Given the description of an element on the screen output the (x, y) to click on. 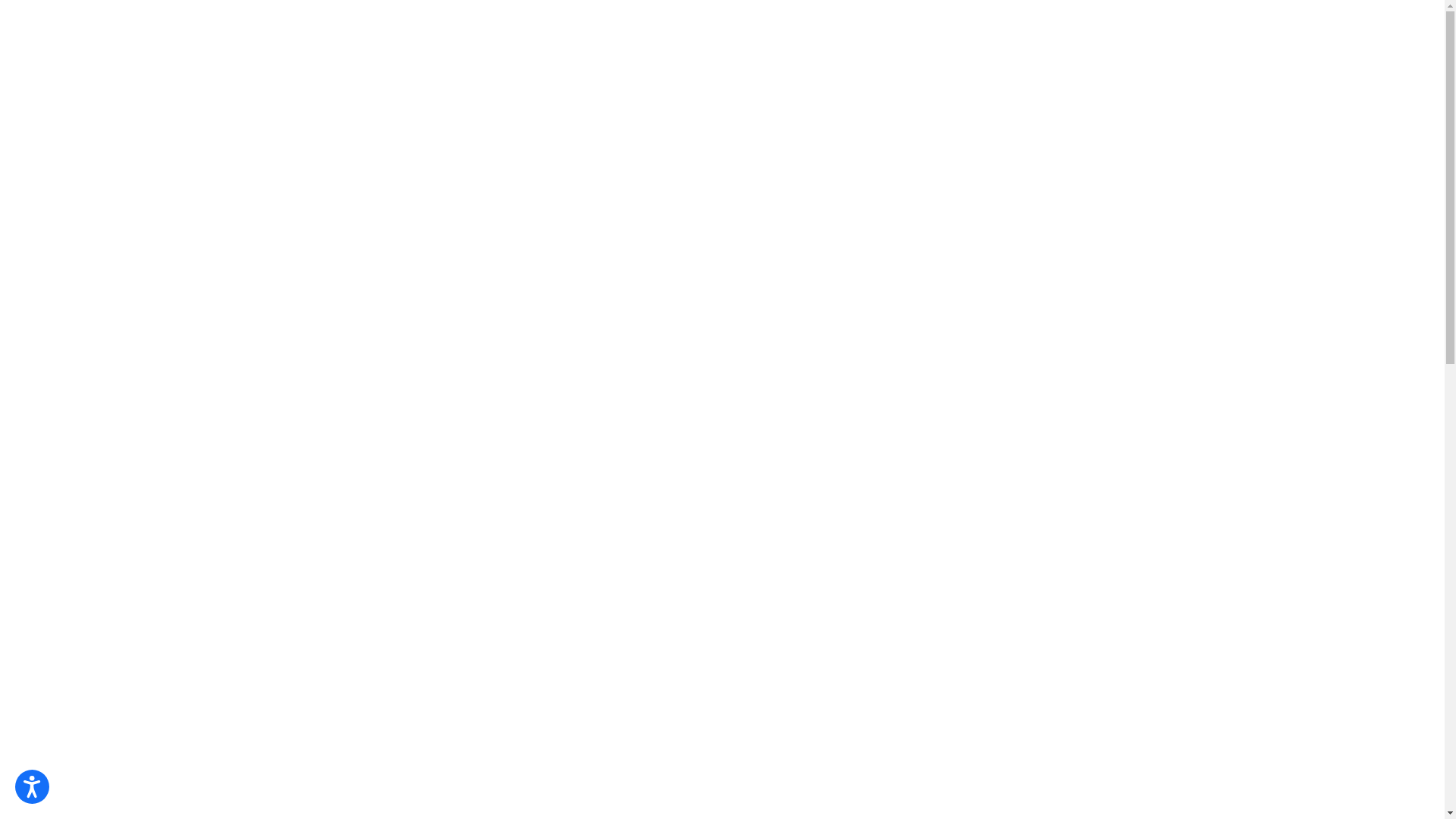
Neighborhood Element type: text (374, 27)
Views Element type: text (270, 27)
Residences Element type: text (174, 27)
Amenities Element type: text (66, 27)
Contact Element type: text (1317, 29)
Woof Element type: text (1232, 29)
Availability Element type: text (1141, 29)
